Given the description of an element on the screen output the (x, y) to click on. 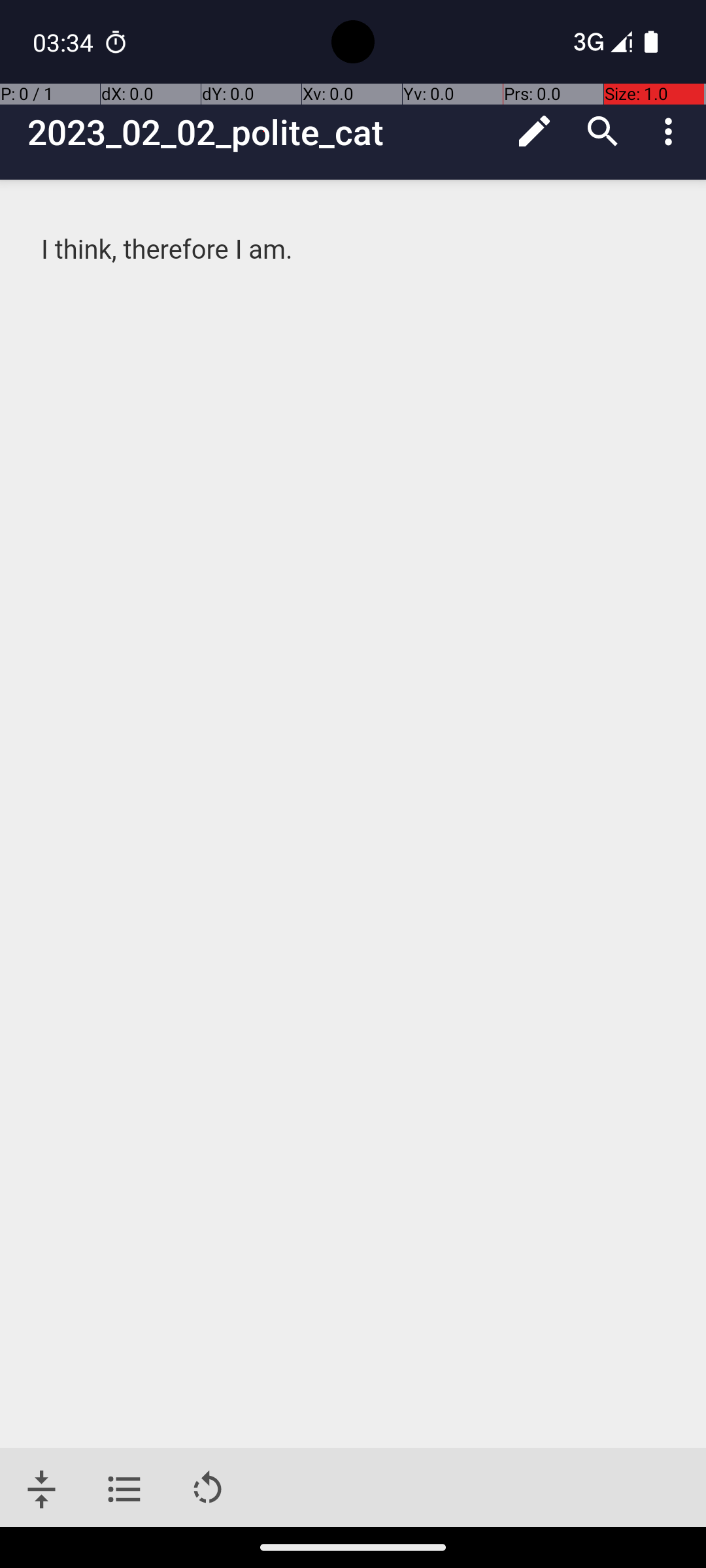
2023_02_02_polite_cat Element type: android.widget.TextView (263, 131)
I think, therefore I am. Element type: android.widget.TextView (354, 249)
03:34 Element type: android.widget.TextView (64, 41)
